Given the description of an element on the screen output the (x, y) to click on. 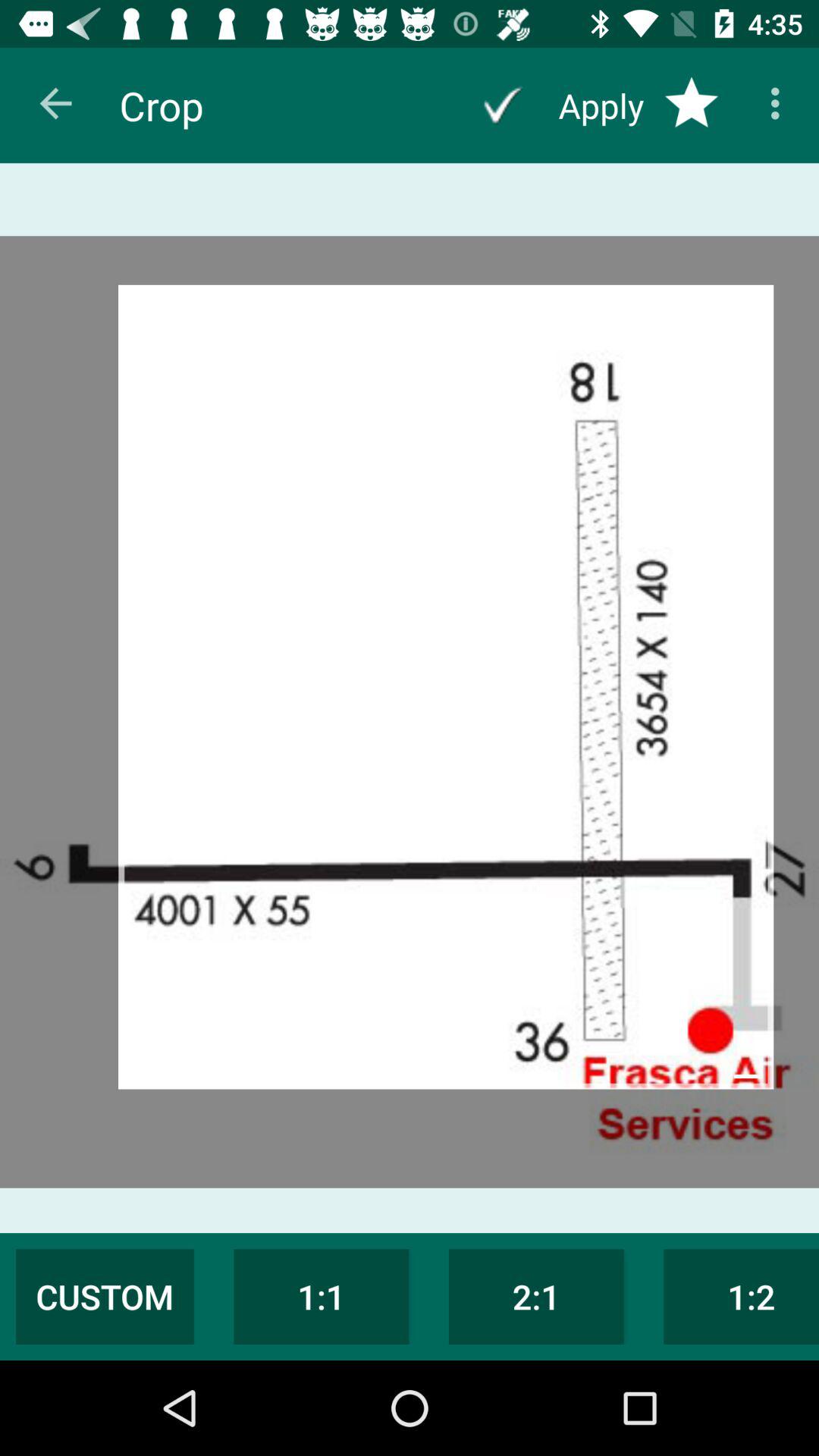
the app developer to help vision (502, 105)
